Given the description of an element on the screen output the (x, y) to click on. 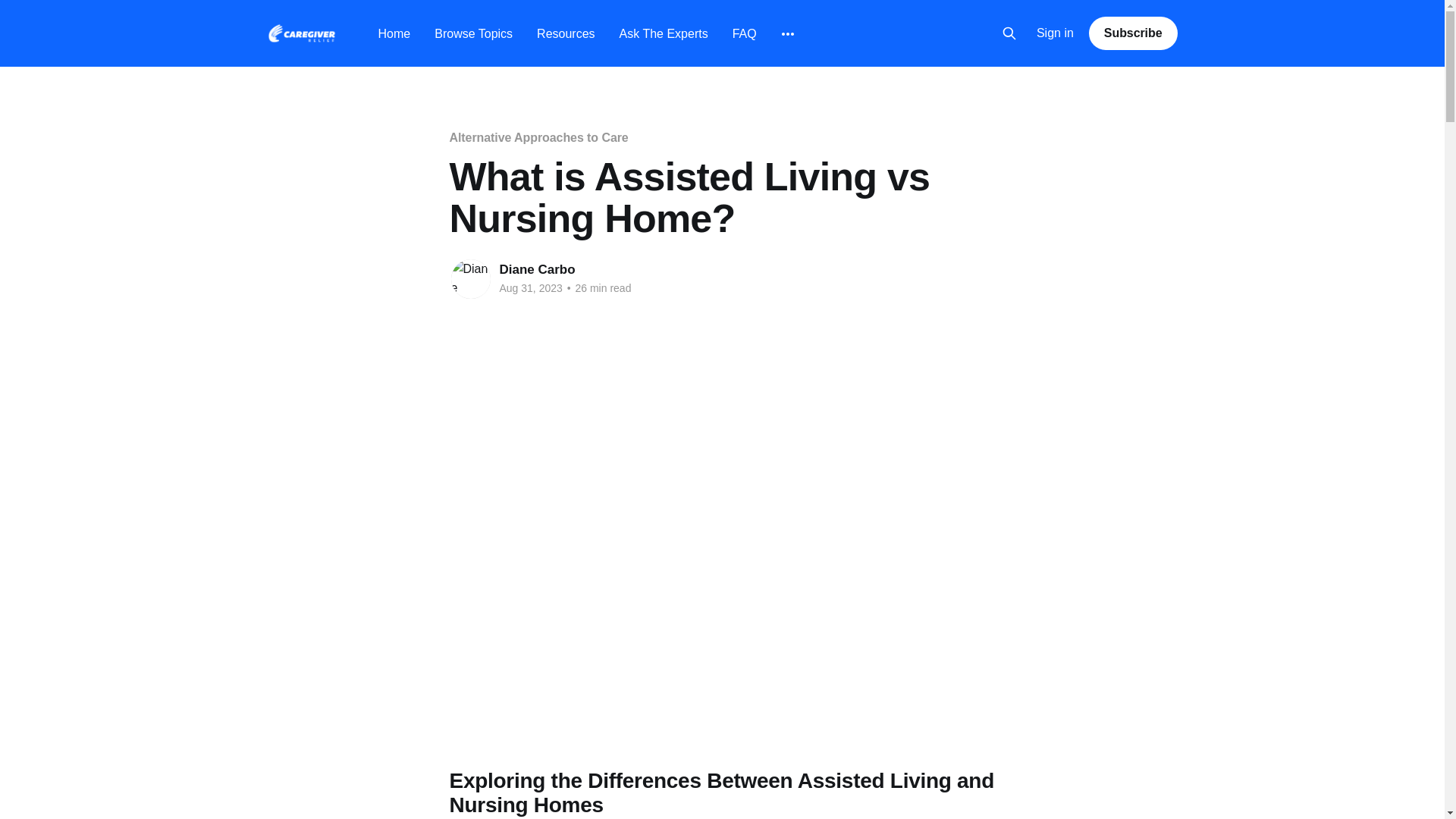
FAQ (744, 33)
Alternative Approaches to Care (537, 137)
Subscribe (1133, 32)
Browse Topics (472, 33)
Home (394, 33)
Sign in (1055, 33)
Diane Carbo (537, 269)
Resources (565, 33)
Ask The Experts (663, 33)
